Given the description of an element on the screen output the (x, y) to click on. 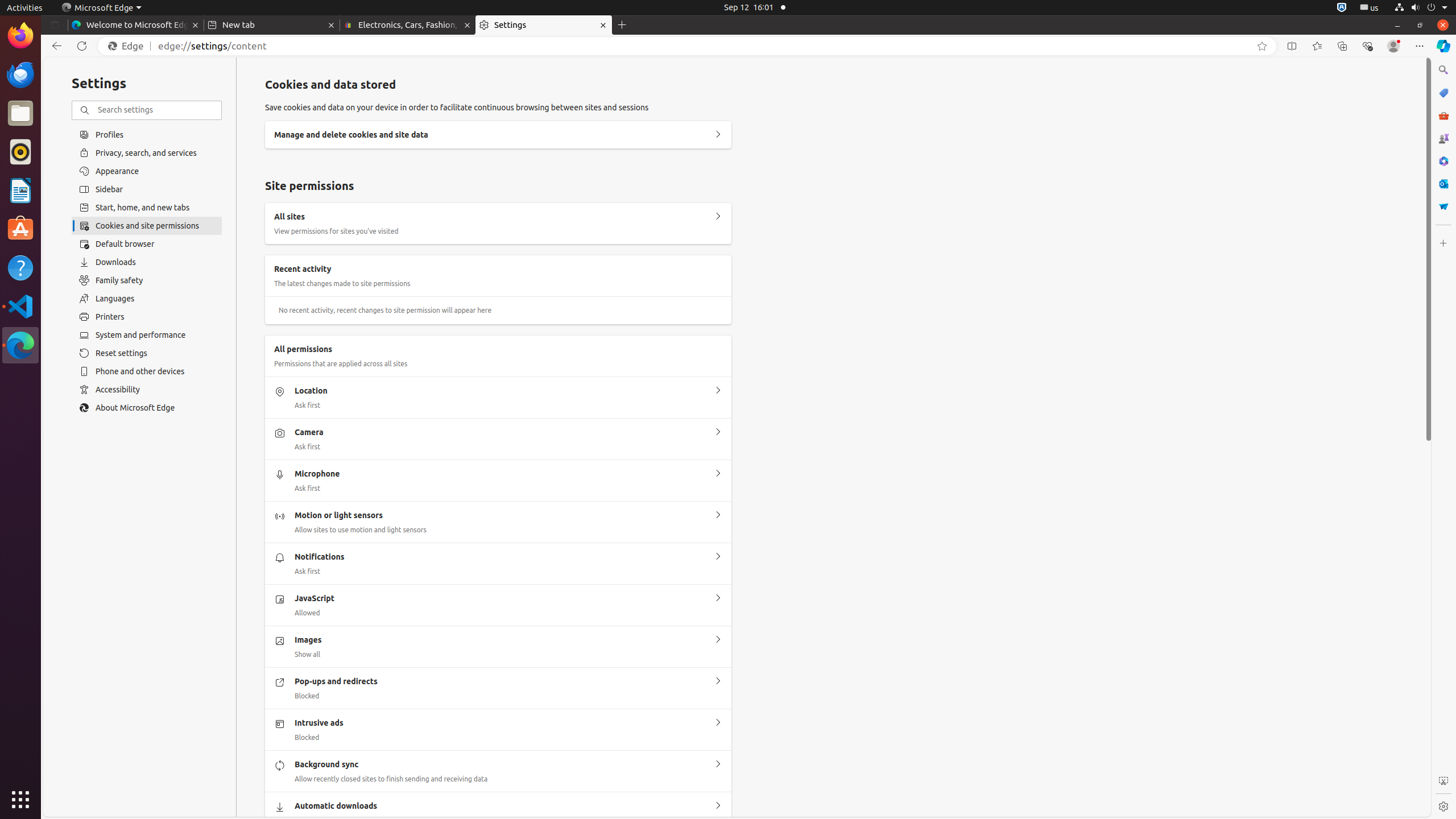
Search Element type: push-button (1443, 69)
Screenshot Element type: push-button (1443, 780)
Notifications Element type: push-button (717, 556)
System and performance Element type: tree-item (146, 334)
:1.72/StatusNotifierItem Element type: menu (1341, 7)
